Given the description of an element on the screen output the (x, y) to click on. 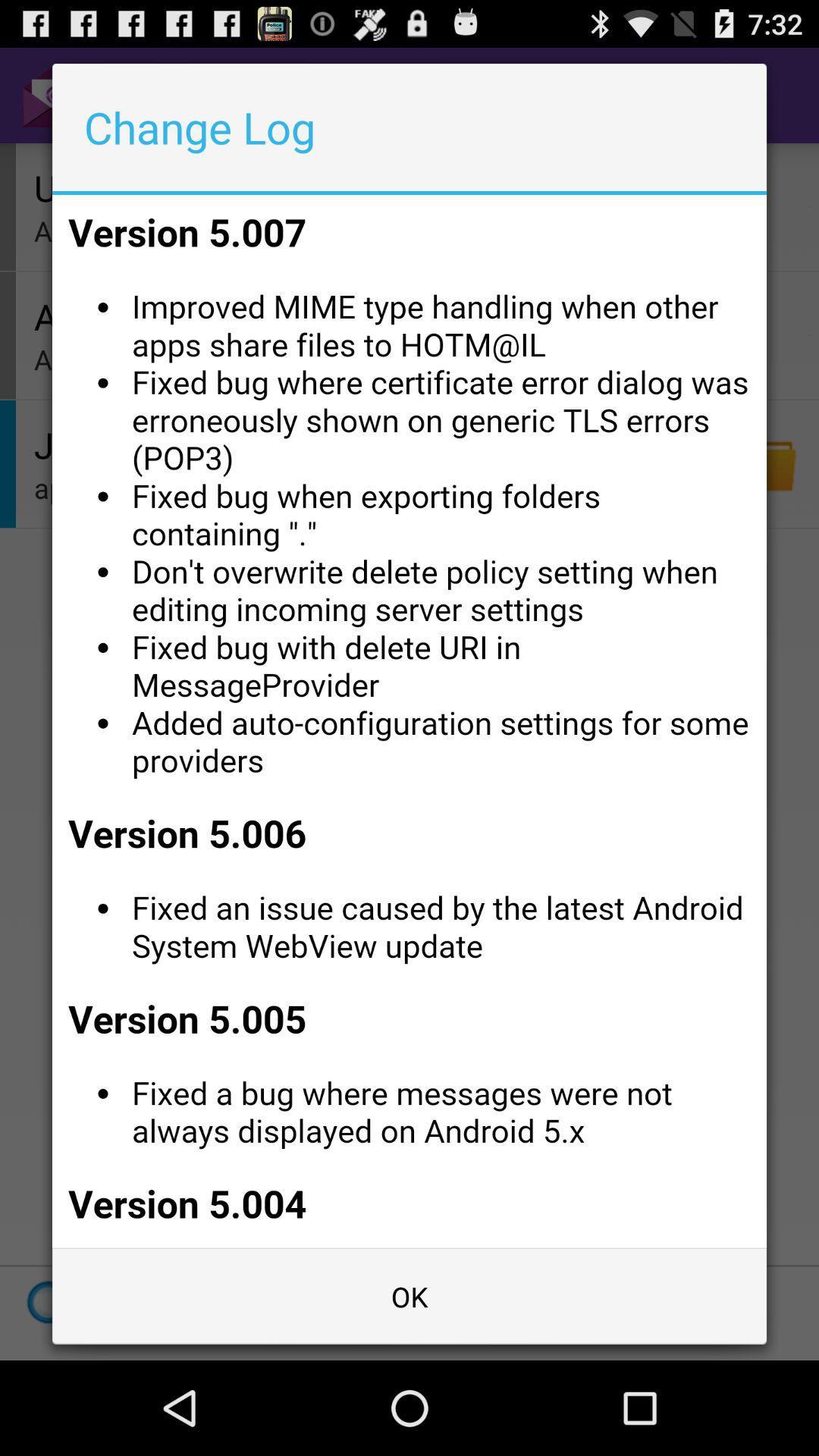
change log details (409, 721)
